Given the description of an element on the screen output the (x, y) to click on. 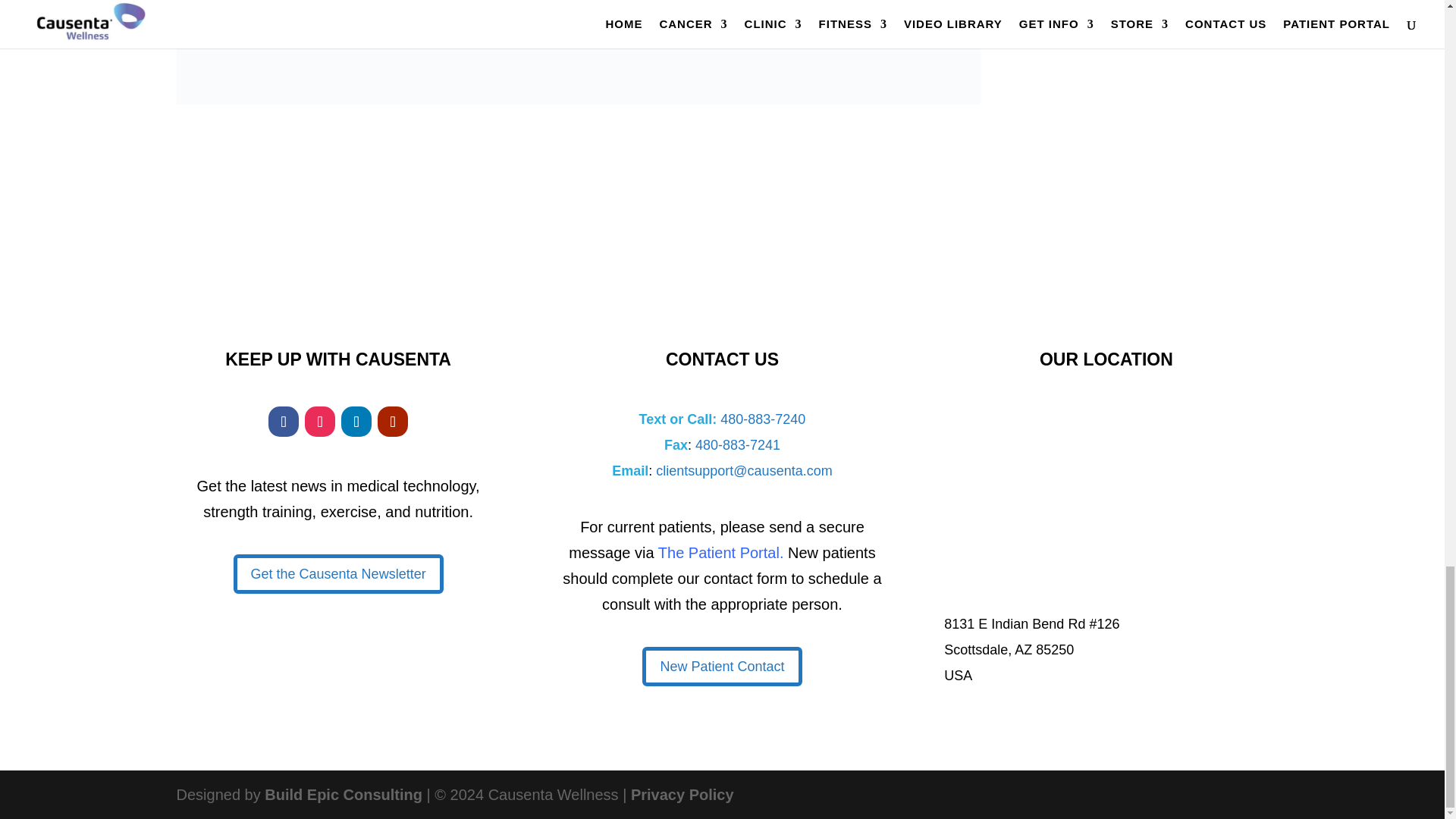
causentacta (577, 52)
Follow on Instagram (319, 421)
Follow on Facebook (282, 421)
Follow on LinkedIn (355, 421)
Follow on Youtube (392, 421)
